Given the description of an element on the screen output the (x, y) to click on. 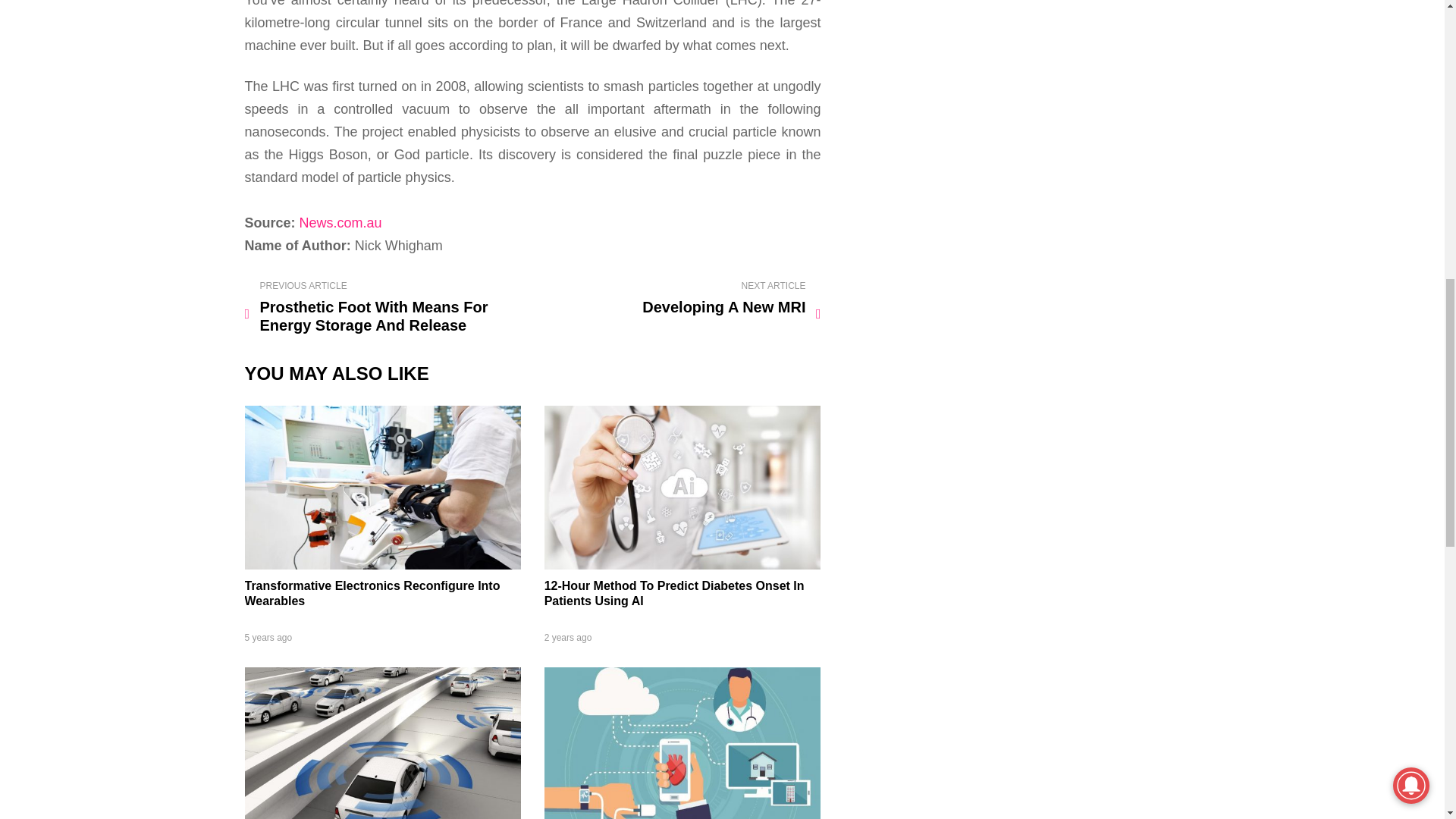
Transformative Electronics Reconfigure Into Wearables (371, 593)
Developing A New MRI (679, 298)
Prosthetic Foot With Means For Energy Storage And Release (384, 307)
Transformative Electronics Reconfigure Into Wearables (382, 564)
